Given the description of an element on the screen output the (x, y) to click on. 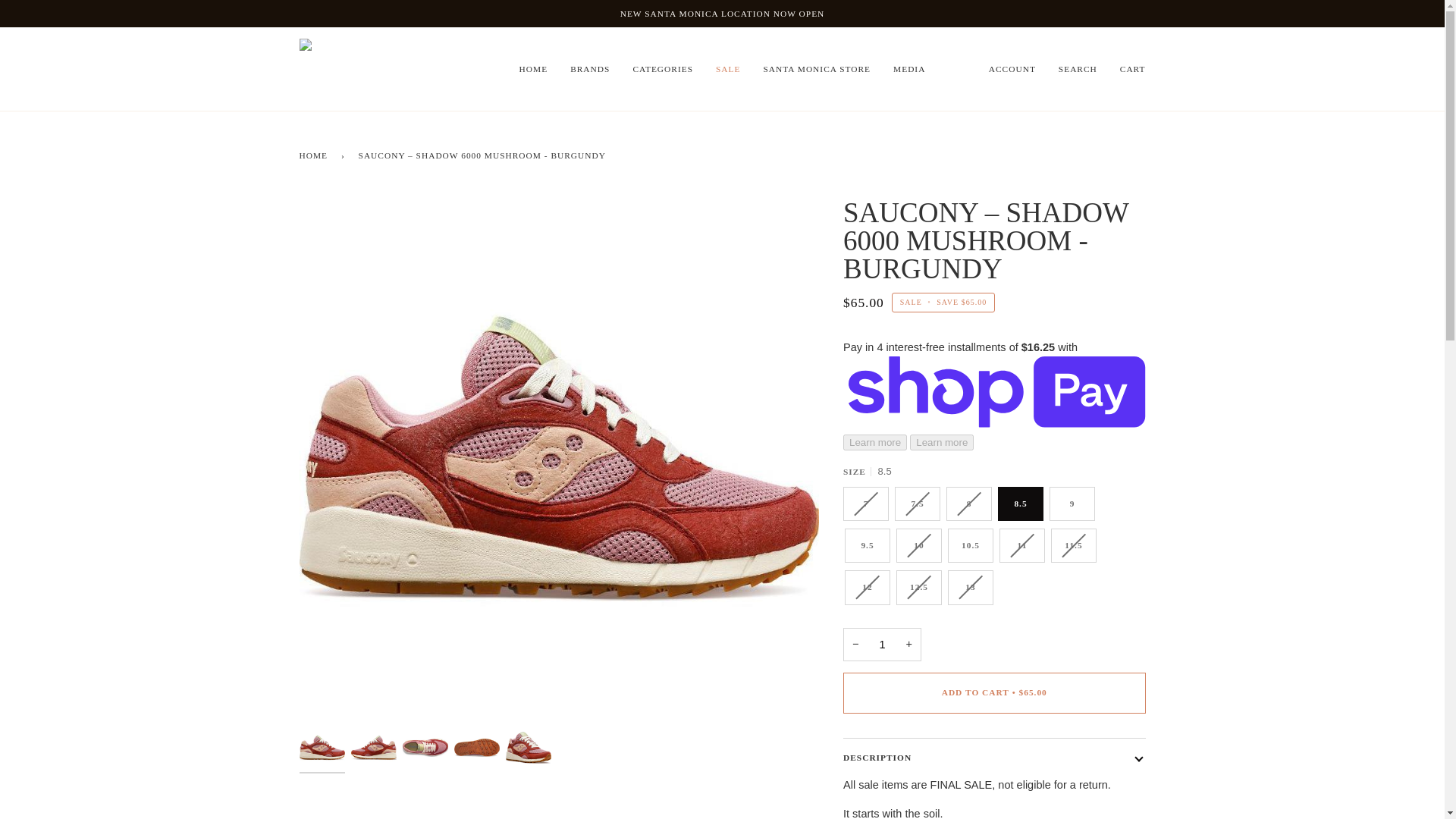
BRANDS (590, 68)
1 (882, 644)
Back to the frontpage (315, 155)
HOME (533, 68)
CATEGORIES (662, 68)
